Given the description of an element on the screen output the (x, y) to click on. 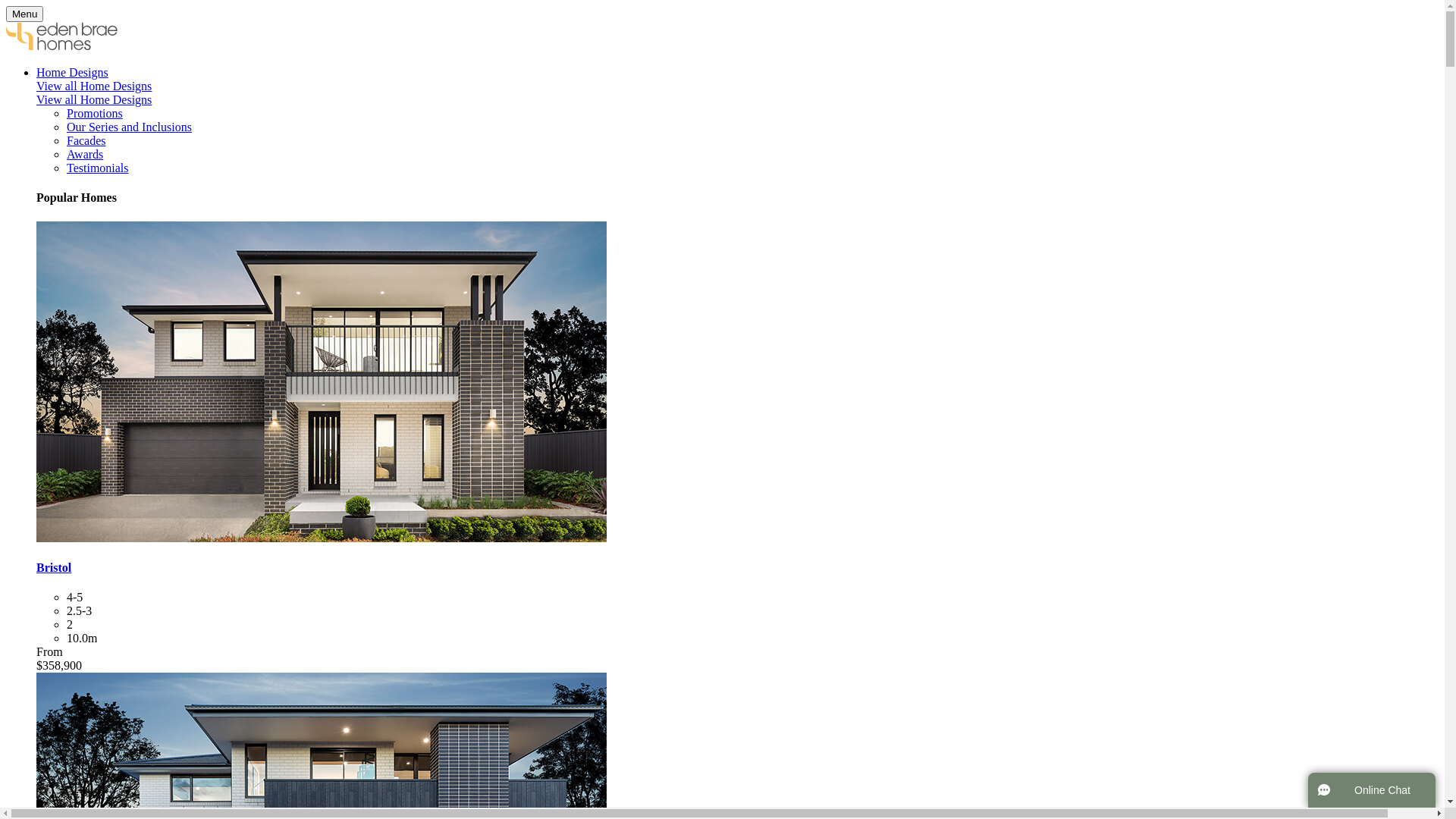
Live chat:
Online Chat Element type: text (1371, 789)
Menu Element type: text (24, 13)
Home Designs Element type: text (72, 71)
View all Home Designs Element type: text (93, 99)
Bristol Element type: text (53, 567)
Facades Element type: text (86, 140)
View all Home Designs Element type: text (93, 85)
Promotions Element type: text (94, 112)
Our Series and Inclusions Element type: text (128, 126)
Testimonials Element type: text (97, 167)
Awards Element type: text (84, 153)
